Given the description of an element on the screen output the (x, y) to click on. 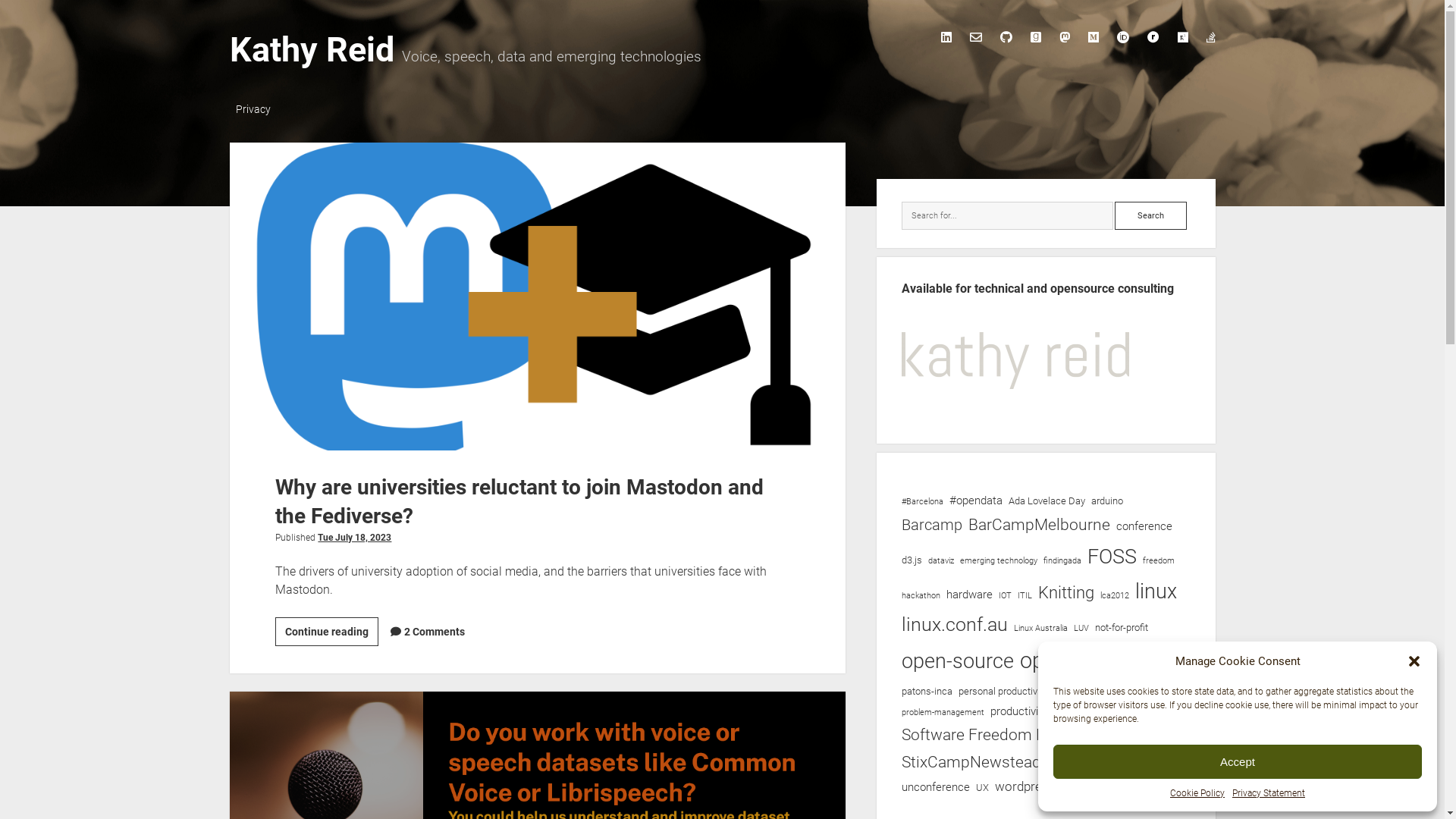
linkedin Element type: text (945, 37)
Tue July 18, 2023 Element type: text (354, 537)
Knitting Element type: text (1066, 592)
findingada Element type: text (1062, 560)
Technology Element type: text (1067, 764)
orcid Element type: text (1122, 37)
research Element type: text (1128, 712)
medium Element type: hover (1092, 37)
linkedin Element type: hover (945, 37)
Kathy Reid Element type: text (311, 49)
conference Element type: text (1144, 526)
Privacy Element type: text (252, 109)
linux Element type: text (1155, 591)
Software Freedom Day Element type: text (981, 735)
Privacy Statement Element type: text (1268, 793)
Linux Australia Element type: text (1040, 628)
d3.js Element type: text (911, 560)
PHP Element type: text (1089, 690)
ravelry Element type: text (1152, 37)
phpwomen Element type: text (1134, 690)
2 Comments Element type: text (434, 631)
Tunisia Element type: text (1164, 764)
dataviz Element type: text (940, 560)
comment icon Element type: hover (395, 631)
#opendata Element type: text (975, 500)
unconference Element type: text (935, 787)
Ada Lovelace Day Element type: text (1046, 500)
goodreads Element type: text (1034, 37)
Accept Element type: text (1237, 761)
email-form Element type: text (975, 37)
linux.conf.au Element type: text (954, 624)
Cookie Policy Element type: text (1197, 793)
stack-overflow Element type: hover (1209, 37)
ravelry Element type: hover (1152, 37)
StixCampNewstead Element type: text (971, 762)
stixcamp Element type: text (1092, 735)
OSS2012 Element type: text (1162, 664)
goodreads Element type: hover (1034, 37)
github Element type: text (1005, 37)
problem-management Element type: text (942, 712)
Search Element type: text (1150, 215)
patons-inca Element type: text (926, 691)
researchgate Element type: text (1181, 37)
medium Element type: text (1092, 37)
orcid Element type: hover (1122, 37)
IOT Element type: text (1004, 595)
arduino Element type: text (1107, 500)
hardware Element type: text (969, 594)
not-for-profit Element type: text (1121, 627)
researchgate Element type: hover (1181, 37)
hackathon Element type: text (920, 595)
FOSS Element type: text (1111, 555)
github Element type: hover (1005, 37)
mastodon Element type: hover (1063, 37)
email-form Element type: hover (975, 37)
mastodon Element type: text (1063, 37)
lca2012 Element type: text (1114, 595)
#Barcelona Element type: text (922, 501)
personal productivity Element type: text (1002, 691)
open-source Element type: text (957, 660)
wordpress Element type: text (1024, 786)
UX Element type: text (981, 787)
BarCampMelbourne Element type: text (1039, 525)
emerging technology Element type: text (998, 560)
LUV Element type: text (1080, 628)
quantified self Element type: text (1079, 712)
opensource Element type: text (1076, 660)
Barcamp Element type: text (931, 525)
toolchain Element type: text (1120, 763)
PhD Element type: text (1062, 691)
stack-overflow Element type: text (1209, 37)
productivity Element type: text (1018, 711)
ITIL Element type: text (1024, 595)
Search for: Element type: hover (1007, 215)
freedom Element type: text (1158, 560)
